Given the description of an element on the screen output the (x, y) to click on. 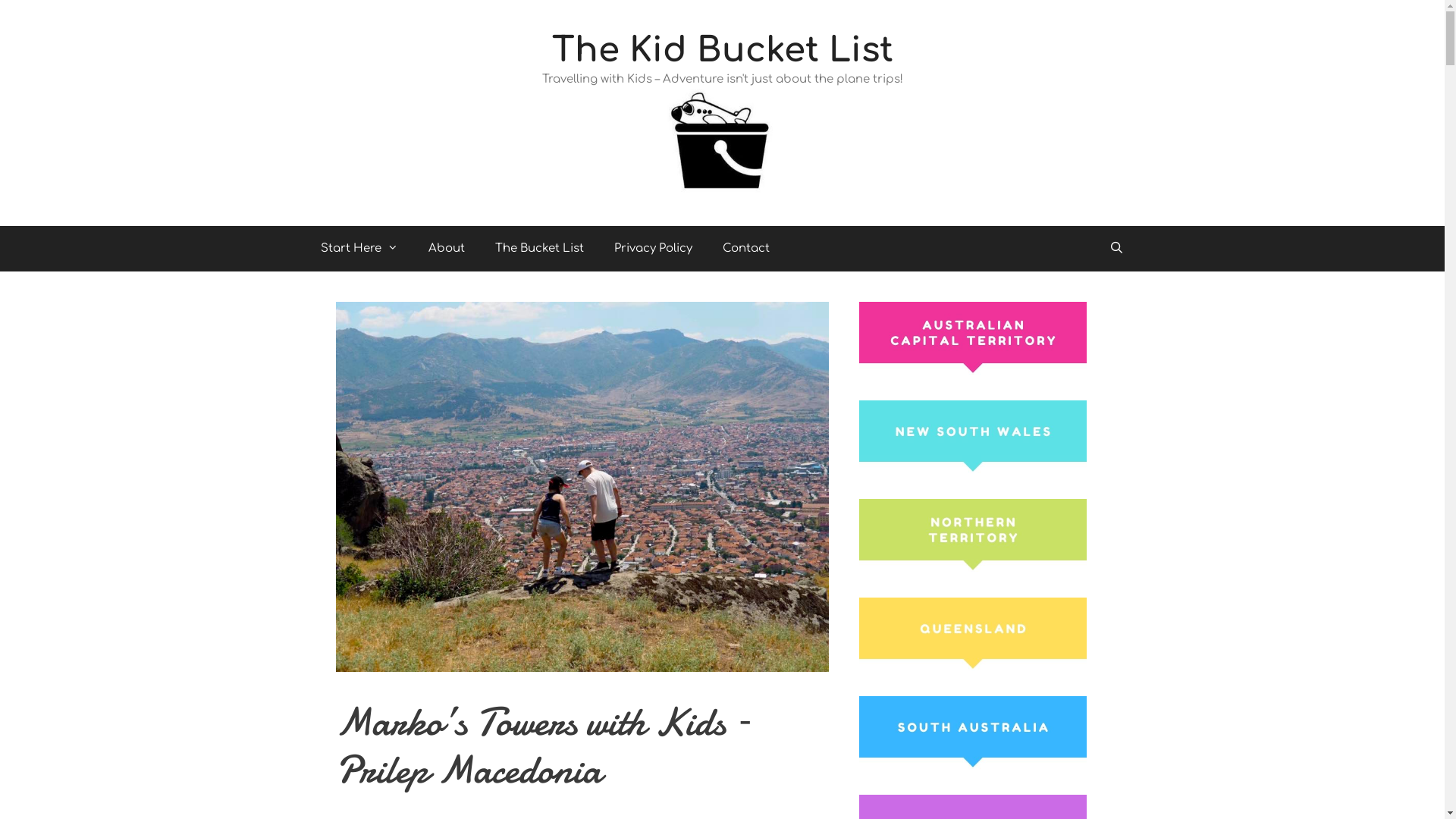
The Bucket List Element type: text (538, 248)
Start Here Element type: text (358, 248)
Contact Element type: text (745, 248)
Privacy Policy Element type: text (653, 248)
About Element type: text (445, 248)
The Kid Bucket List Element type: text (722, 50)
